Given the description of an element on the screen output the (x, y) to click on. 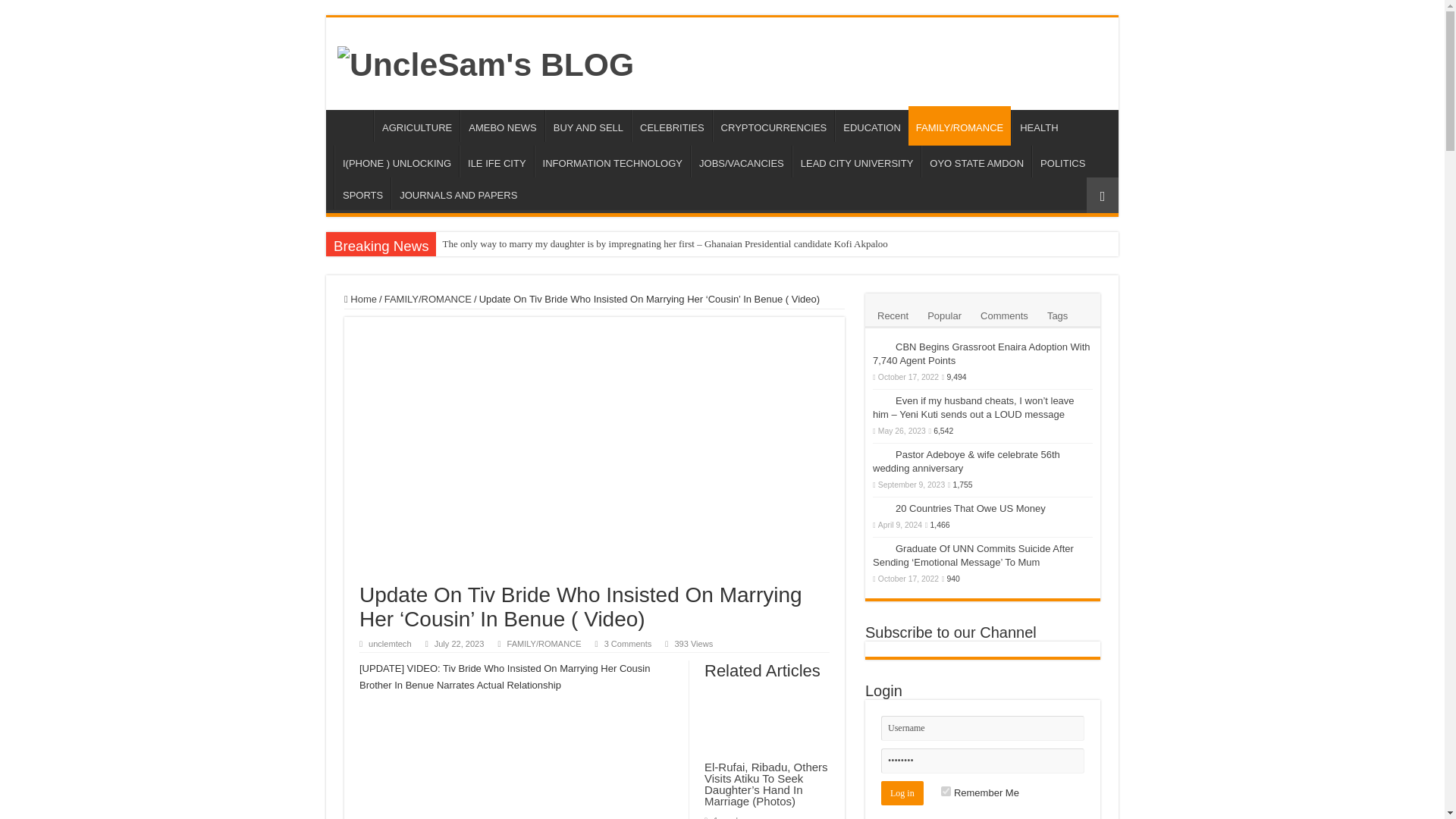
Username (982, 728)
Random Article (1102, 194)
CELEBRITIES (671, 125)
EDUCATION (871, 125)
JOURNALS AND PAPERS (457, 193)
Password (982, 760)
CRYPTOCURRENCIES (773, 125)
ILE IFE CITY (497, 161)
Log in (901, 793)
BUY AND SELL (587, 125)
